Given the description of an element on the screen output the (x, y) to click on. 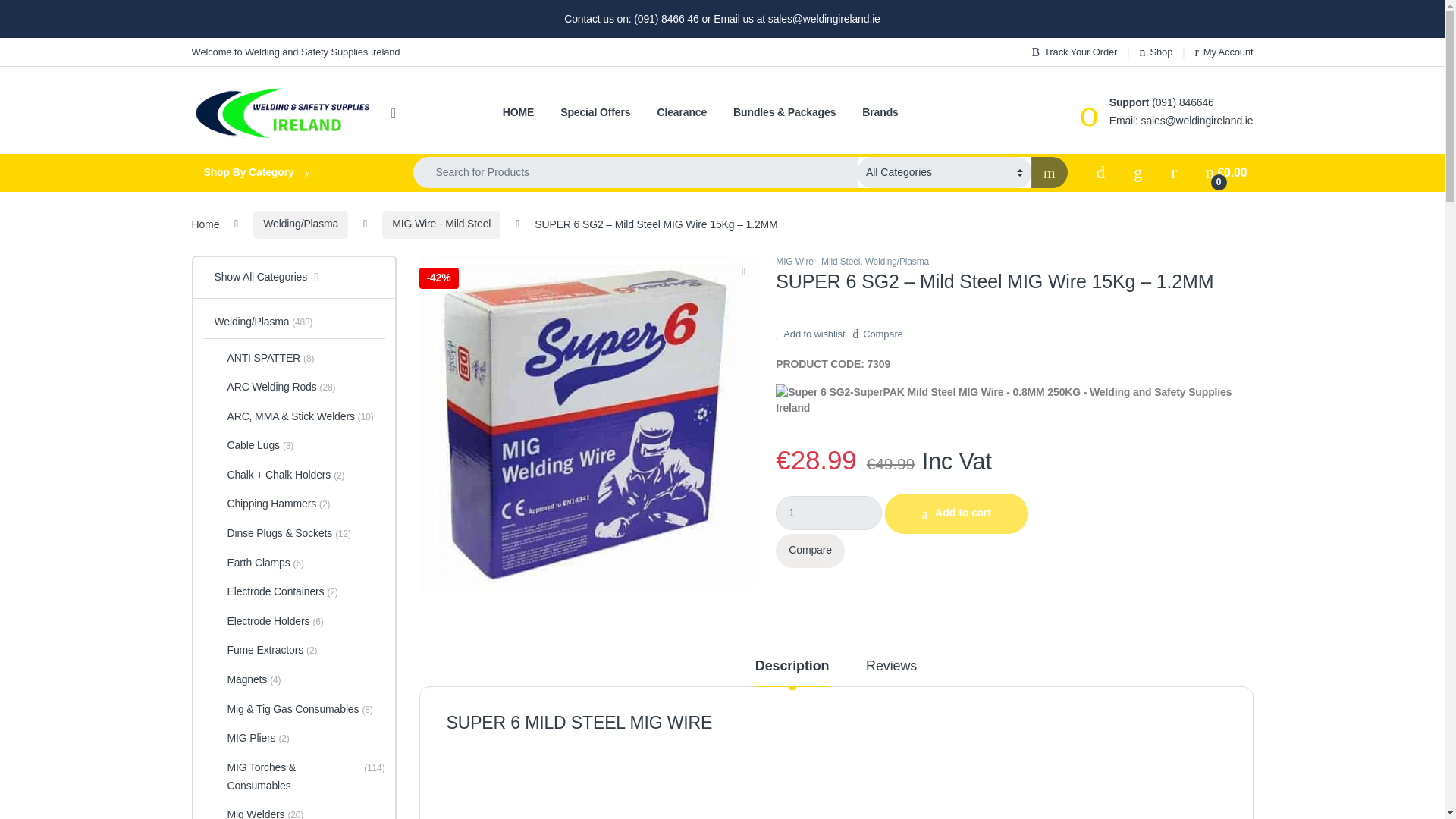
My Account (1224, 51)
Track Your Order (1073, 51)
Welcome to Welding and Safety Supplies Ireland (294, 51)
Shop (1156, 51)
Track Your Order (1073, 51)
Shop (1156, 51)
Welcome to Welding and Safety Supplies Ireland (294, 51)
1 (829, 512)
My Account (1224, 51)
